Given the description of an element on the screen output the (x, y) to click on. 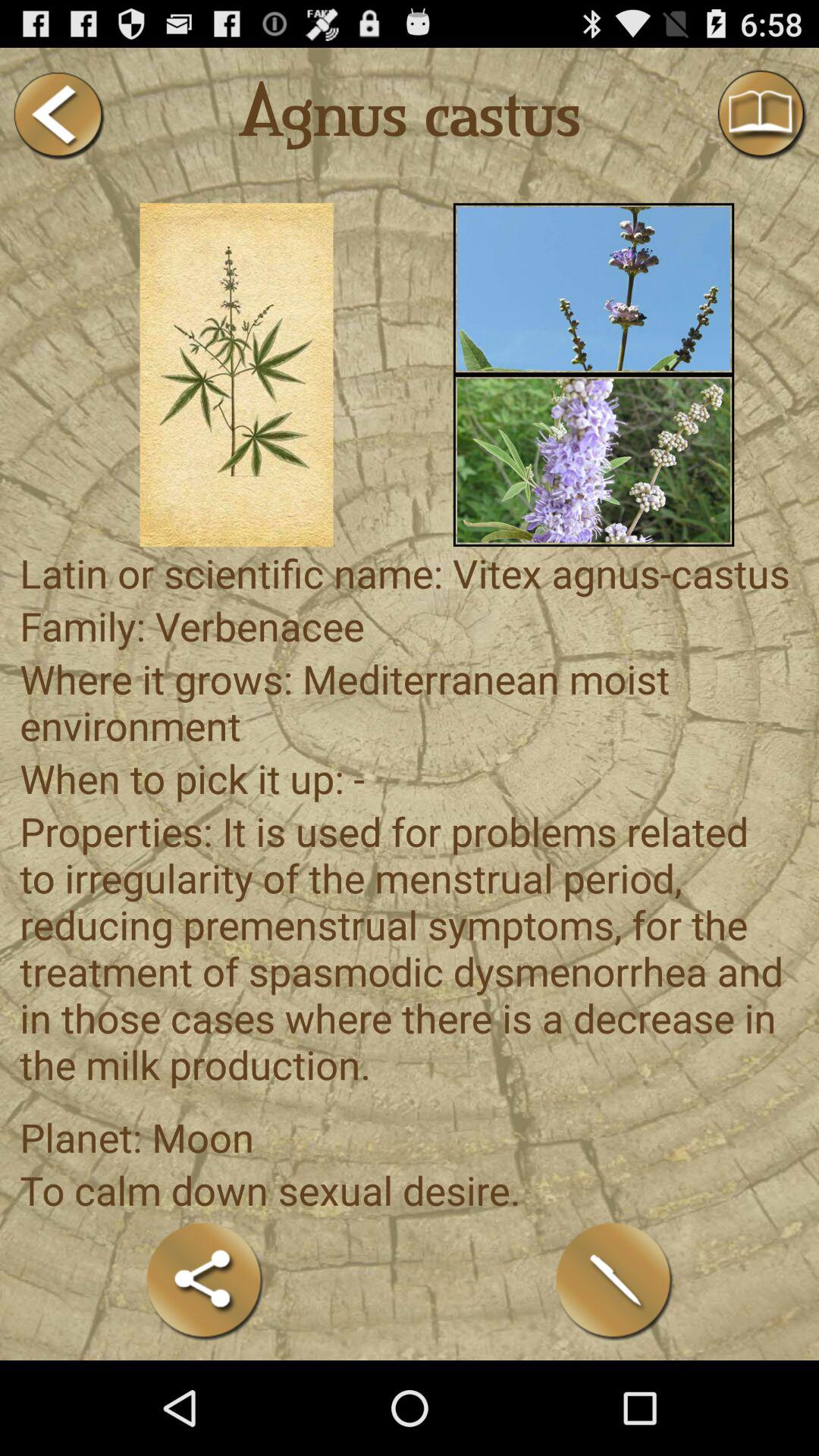
view selected picture (593, 460)
